Given the description of an element on the screen output the (x, y) to click on. 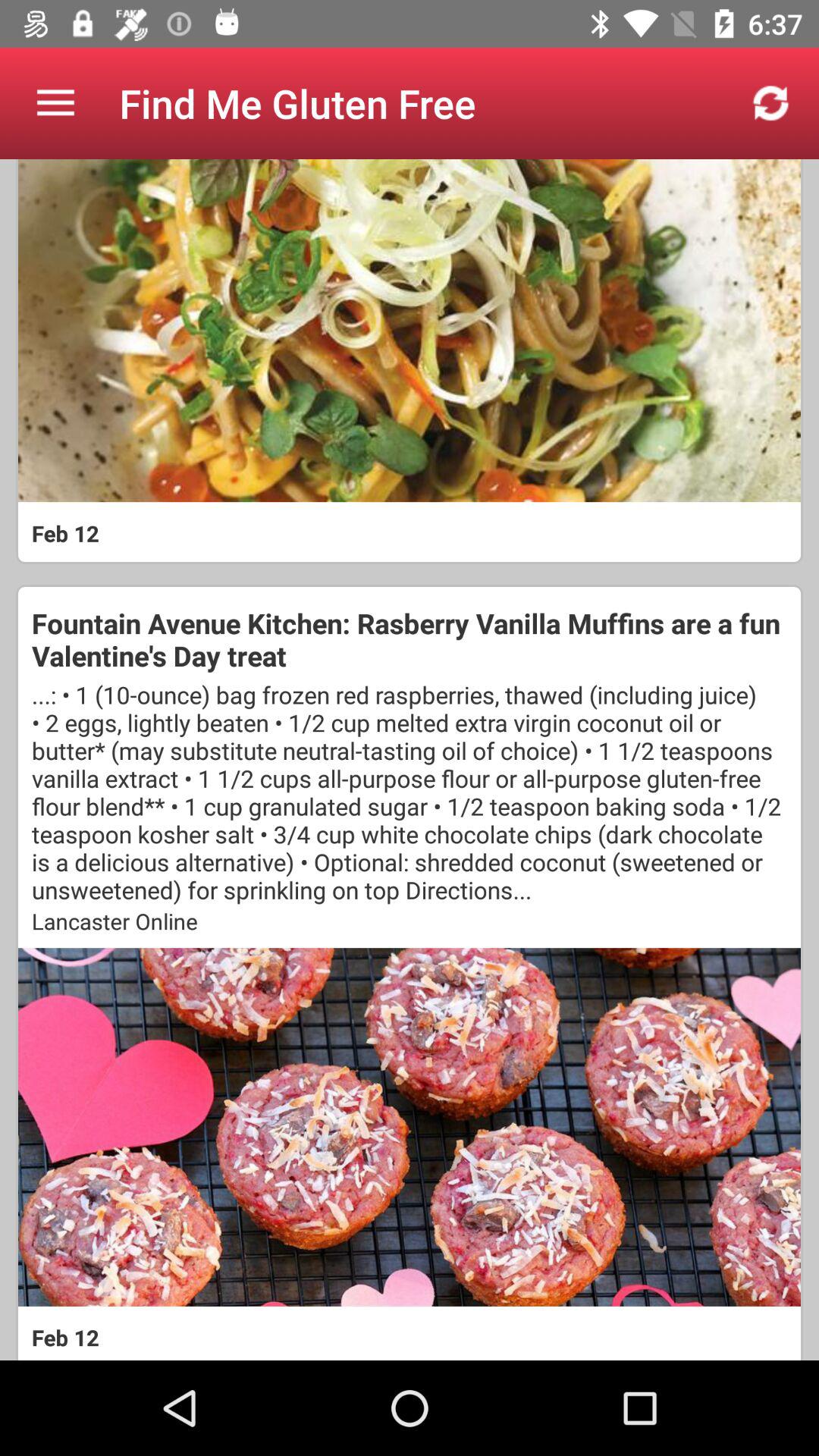
press the lancaster online icon (409, 921)
